Given the description of an element on the screen output the (x, y) to click on. 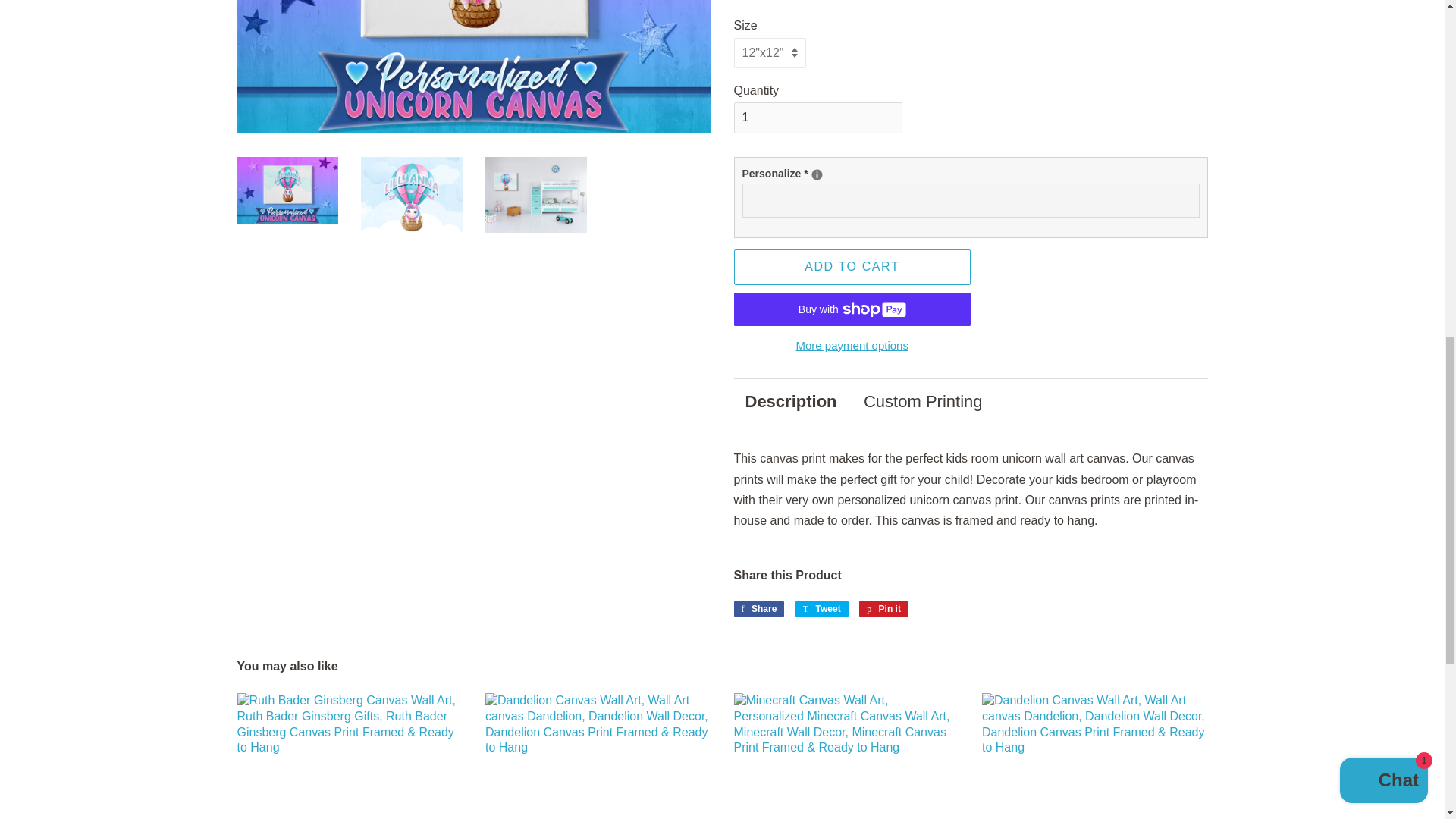
Pin on Pinterest (883, 608)
1 (817, 117)
Tweet on Twitter (821, 608)
Share on Facebook (758, 608)
